Given the description of an element on the screen output the (x, y) to click on. 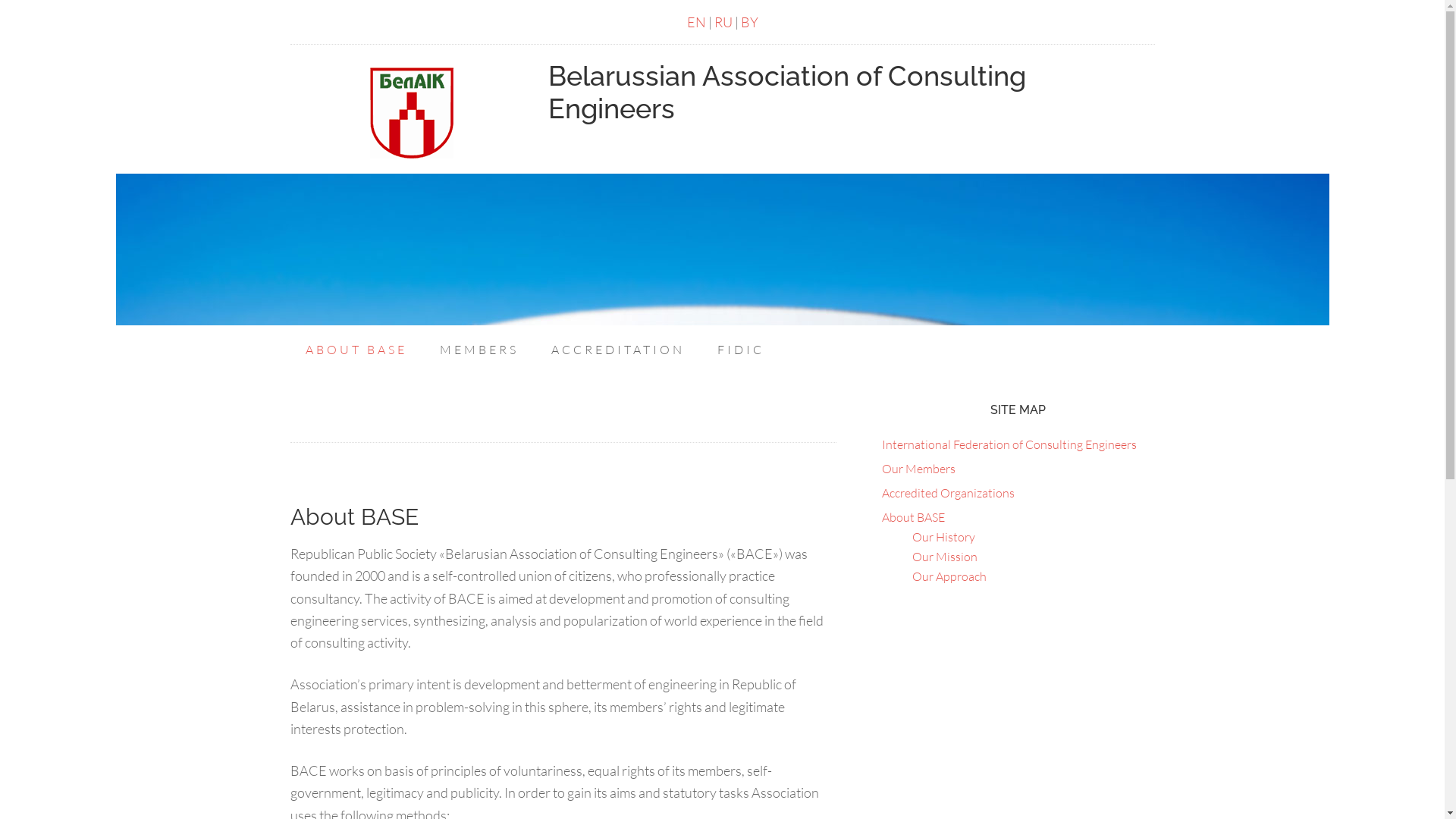
FIDIC Element type: text (740, 349)
International Federation of Consulting Engineers Element type: text (1008, 443)
MEMBERS Element type: text (478, 349)
BY Element type: text (748, 21)
ACCREDITATION Element type: text (617, 349)
BACE Element type: text (410, 112)
About BASE Element type: text (912, 516)
Accredited Organizations Element type: text (947, 492)
Our Members Element type: text (917, 468)
EN Element type: text (696, 21)
Our History Element type: text (942, 536)
RU Element type: text (723, 21)
Our Mission Element type: text (943, 556)
ABOUT BASE Element type: text (355, 349)
Our Approach Element type: text (948, 575)
